Given the description of an element on the screen output the (x, y) to click on. 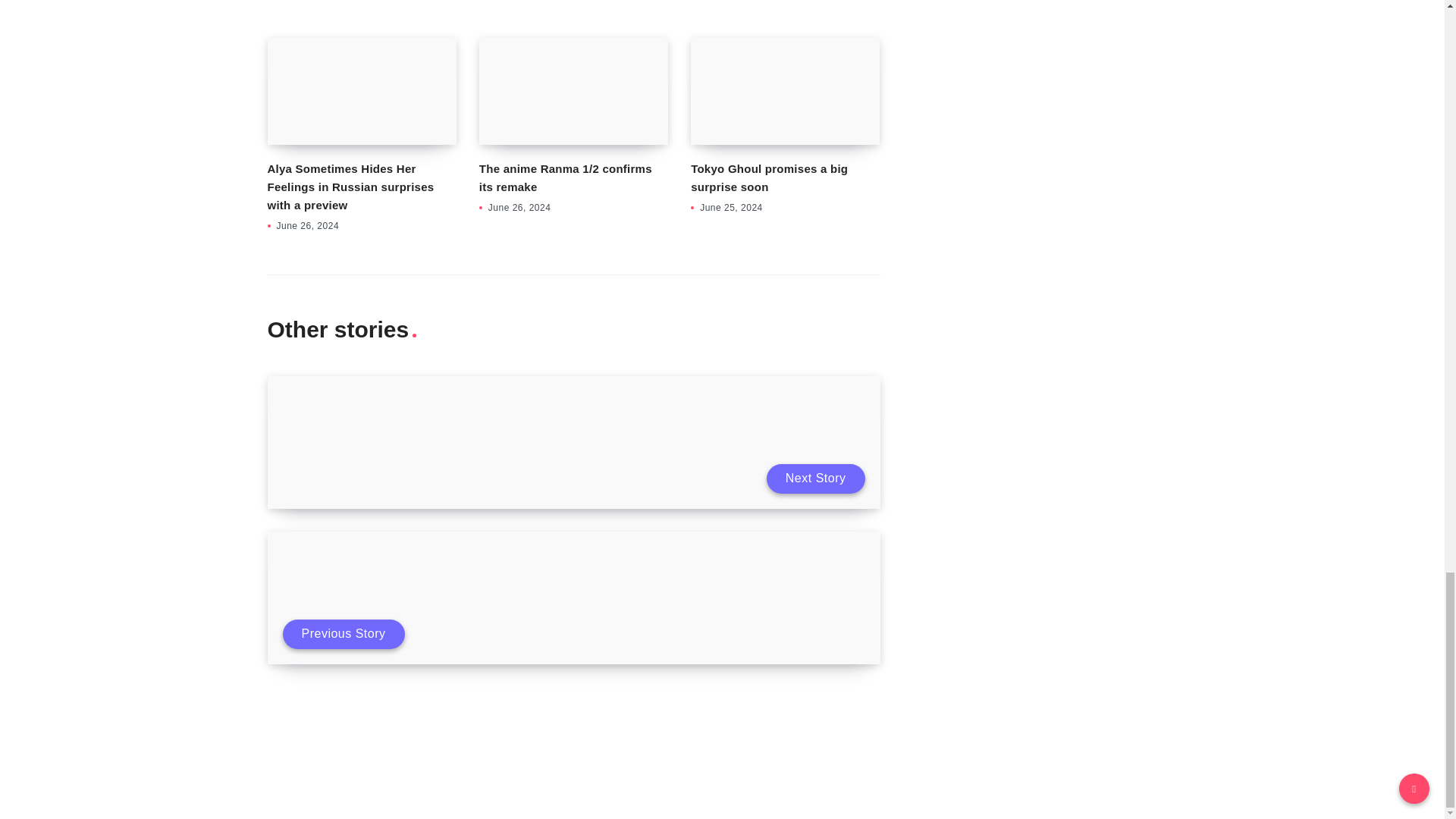
Tokyo Ghoul promises a big surprise soon (784, 90)
